Given the description of an element on the screen output the (x, y) to click on. 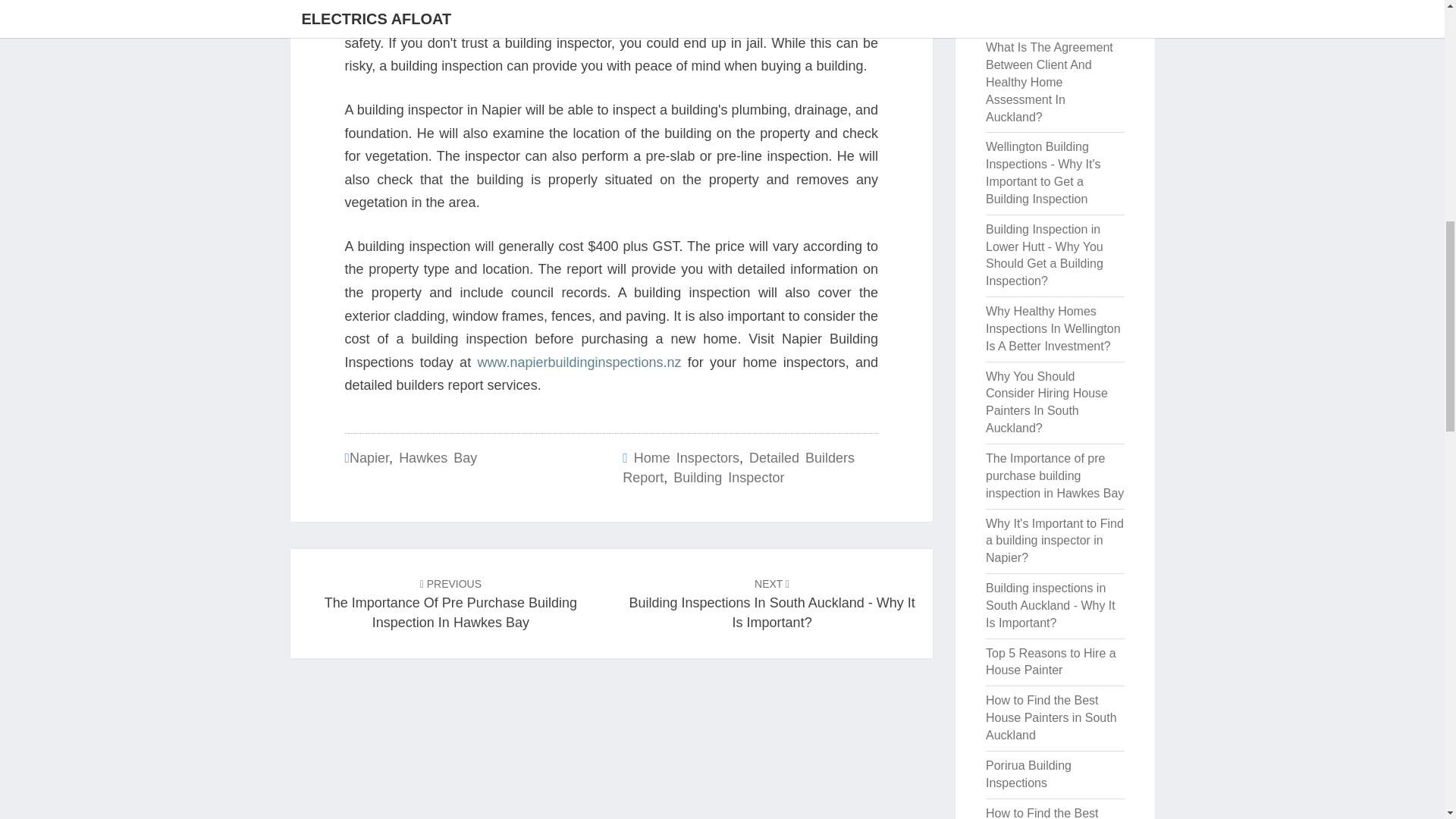
Porirua Building Inspections (1028, 774)
Building Inspector (728, 477)
www.napierbuildinginspections.nz (579, 362)
Home Inspectors (686, 458)
Detailed Builders Report (738, 467)
How to Find the Best House Painters in South Auckland (1050, 717)
